Given the description of an element on the screen output the (x, y) to click on. 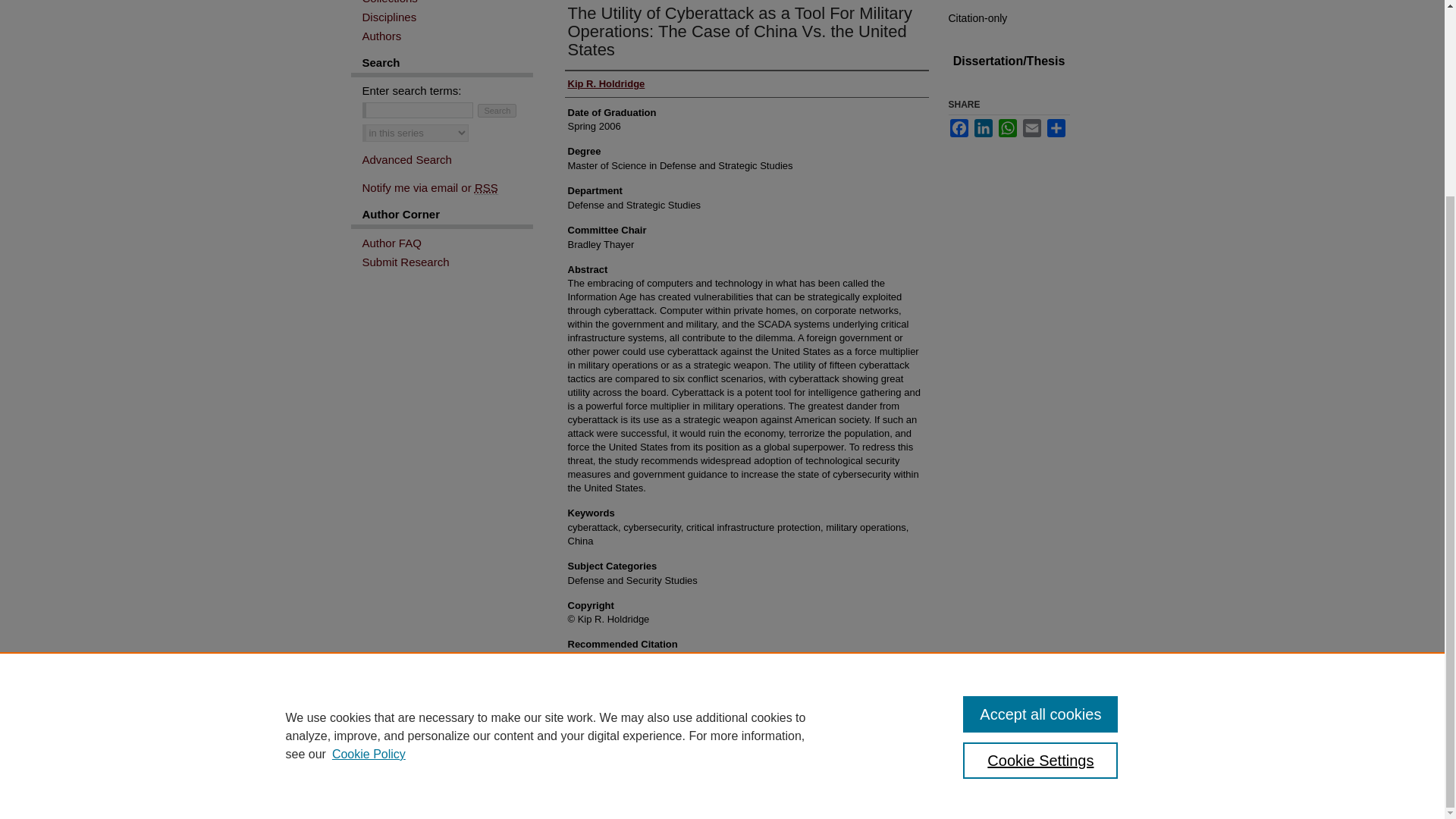
Search (496, 110)
Disclosures (765, 769)
Browse by Author (447, 35)
Browse by Disciplines (447, 16)
Browse by Collections (447, 2)
Share (1055, 127)
Collections (447, 2)
Notify me via email or RSS (447, 187)
Email (1031, 127)
Email or RSS Notifications (447, 187)
Kip R. Holdridge (606, 83)
Author FAQ (447, 242)
Search (496, 110)
Disciplines (447, 16)
Facebook (958, 127)
